Given the description of an element on the screen output the (x, y) to click on. 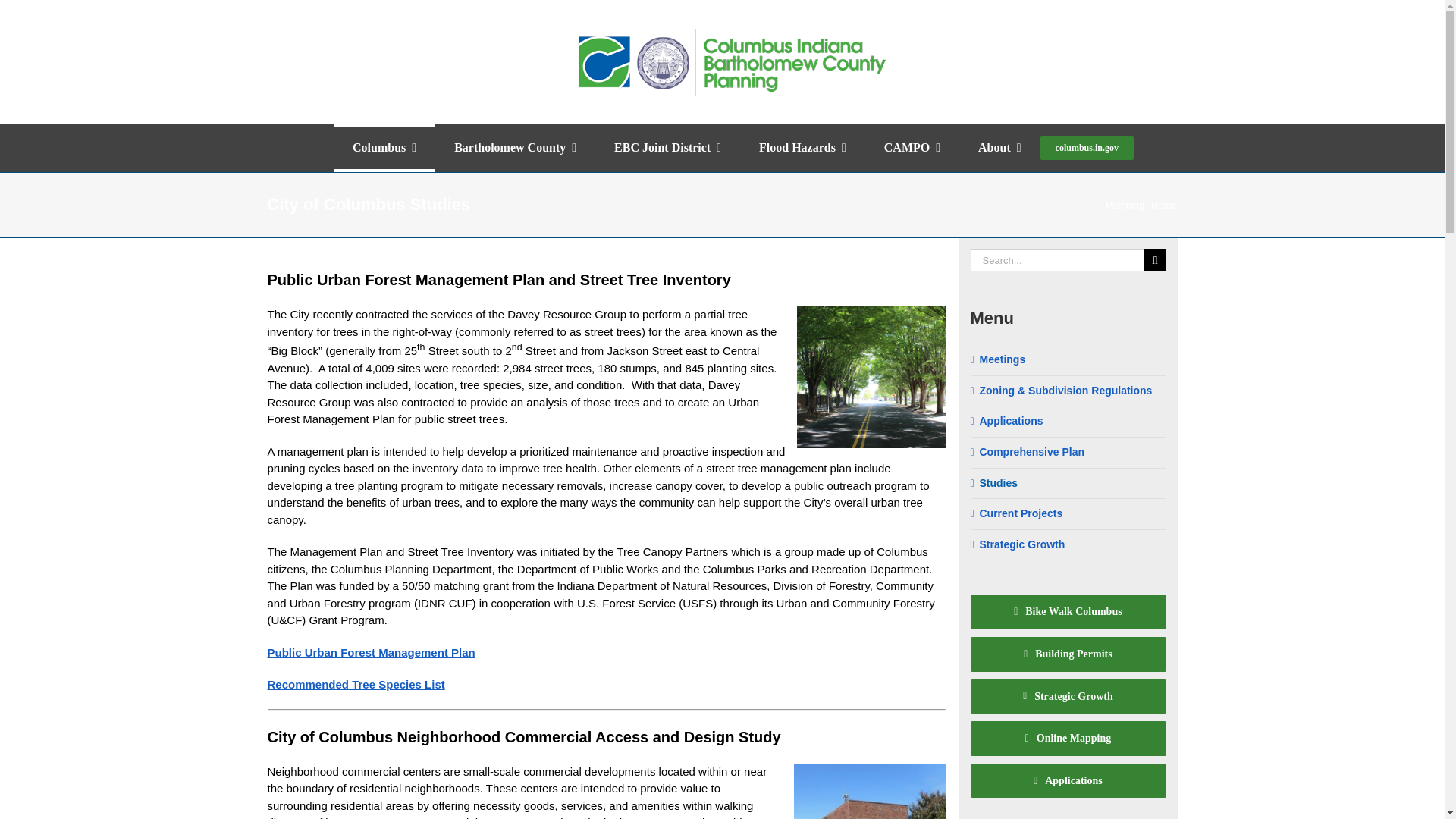
CAMPO (911, 147)
Columbus (384, 147)
EBC Joint District (667, 147)
Flood Hazards (801, 147)
Bartholomew County (515, 147)
